Given the description of an element on the screen output the (x, y) to click on. 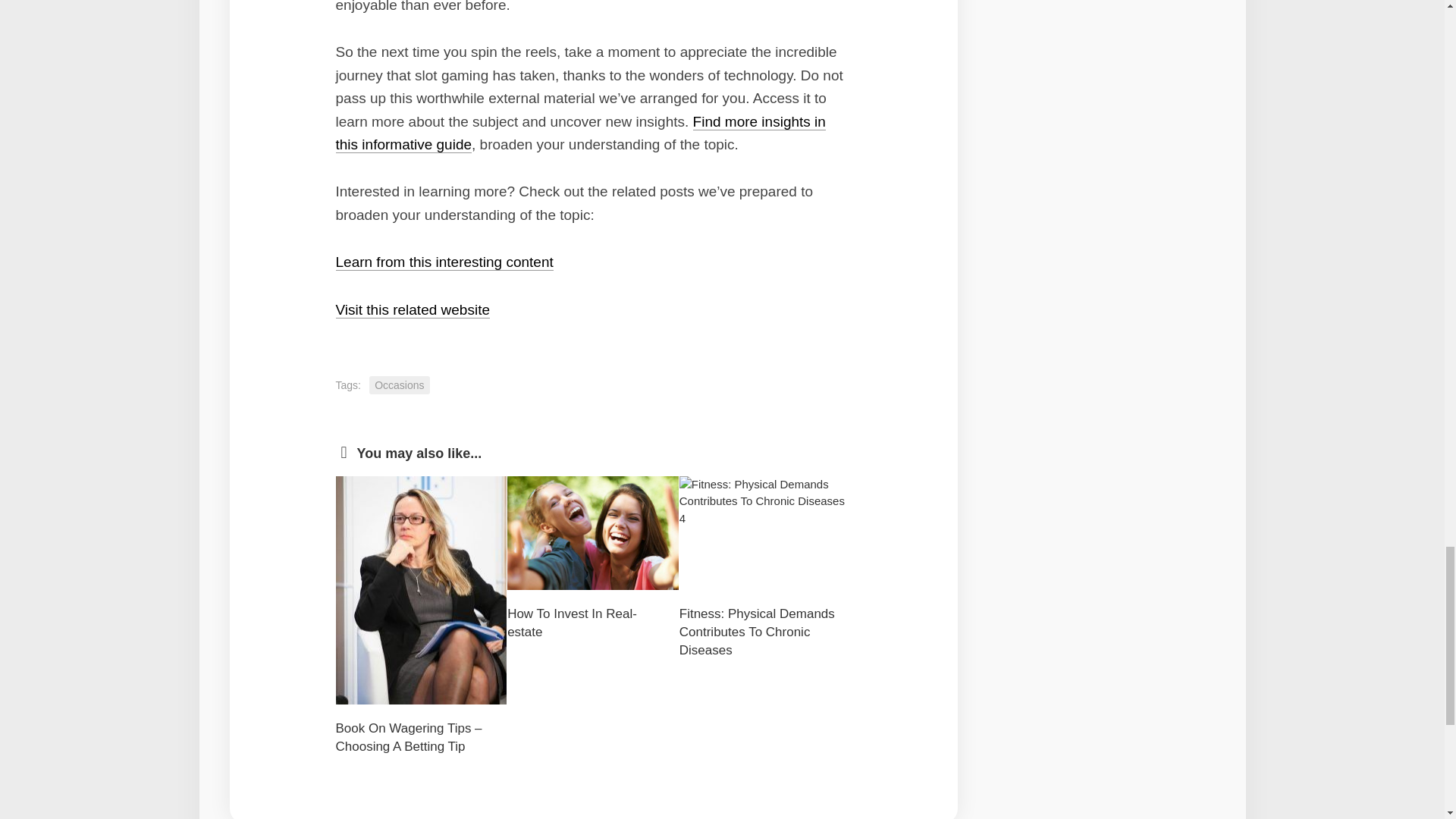
Fitness: Physical Demands Contributes To Chronic Diseases (756, 631)
Occasions (399, 384)
How To Invest In Real-estate (571, 622)
Learn from this interesting content (443, 261)
Visit this related website (411, 309)
Find more insights in this informative guide (579, 132)
